Given the description of an element on the screen output the (x, y) to click on. 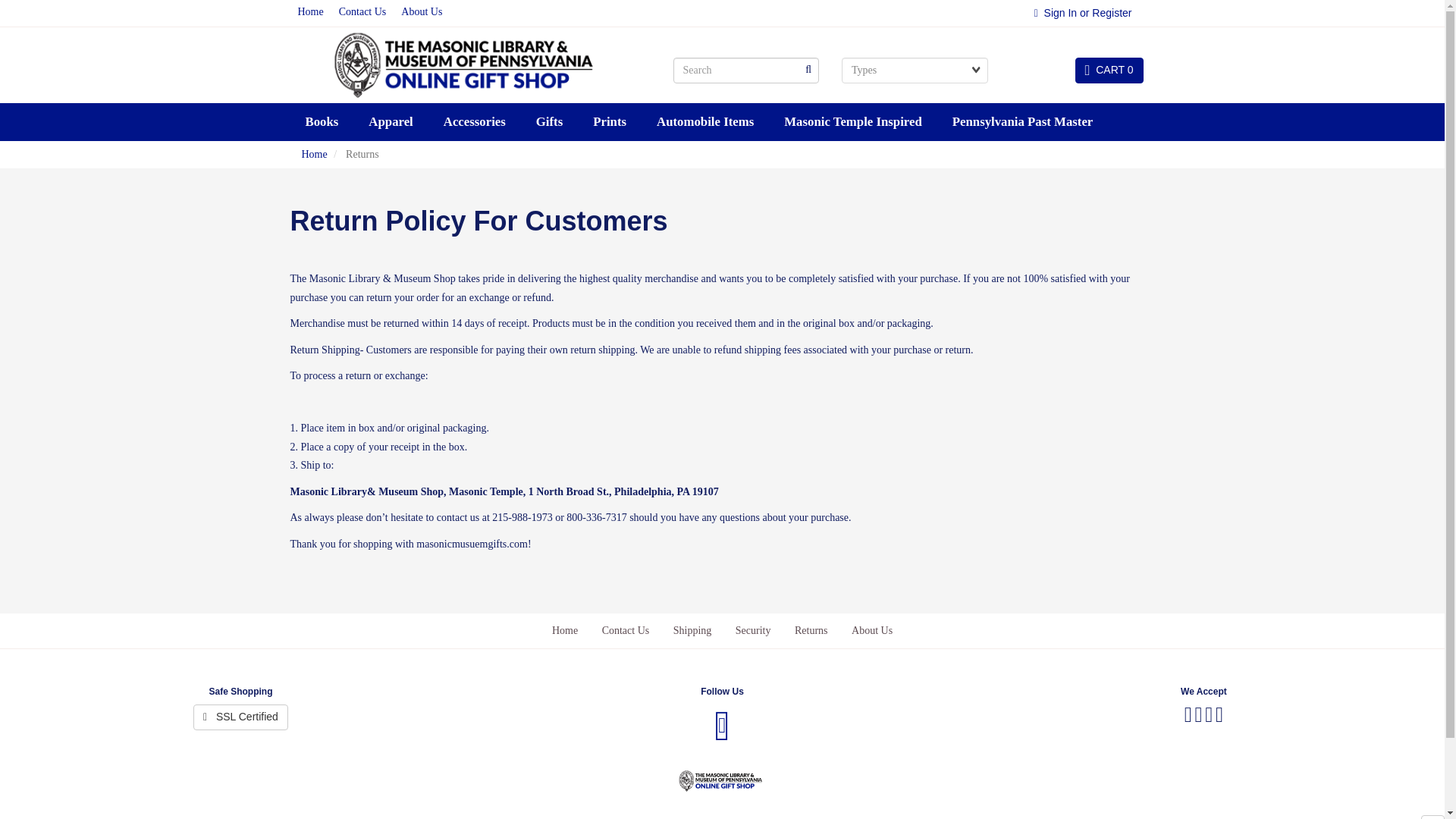
Contact Us (362, 13)
  Sign In or Register (1082, 13)
About Us (421, 13)
Home (309, 13)
